Given the description of an element on the screen output the (x, y) to click on. 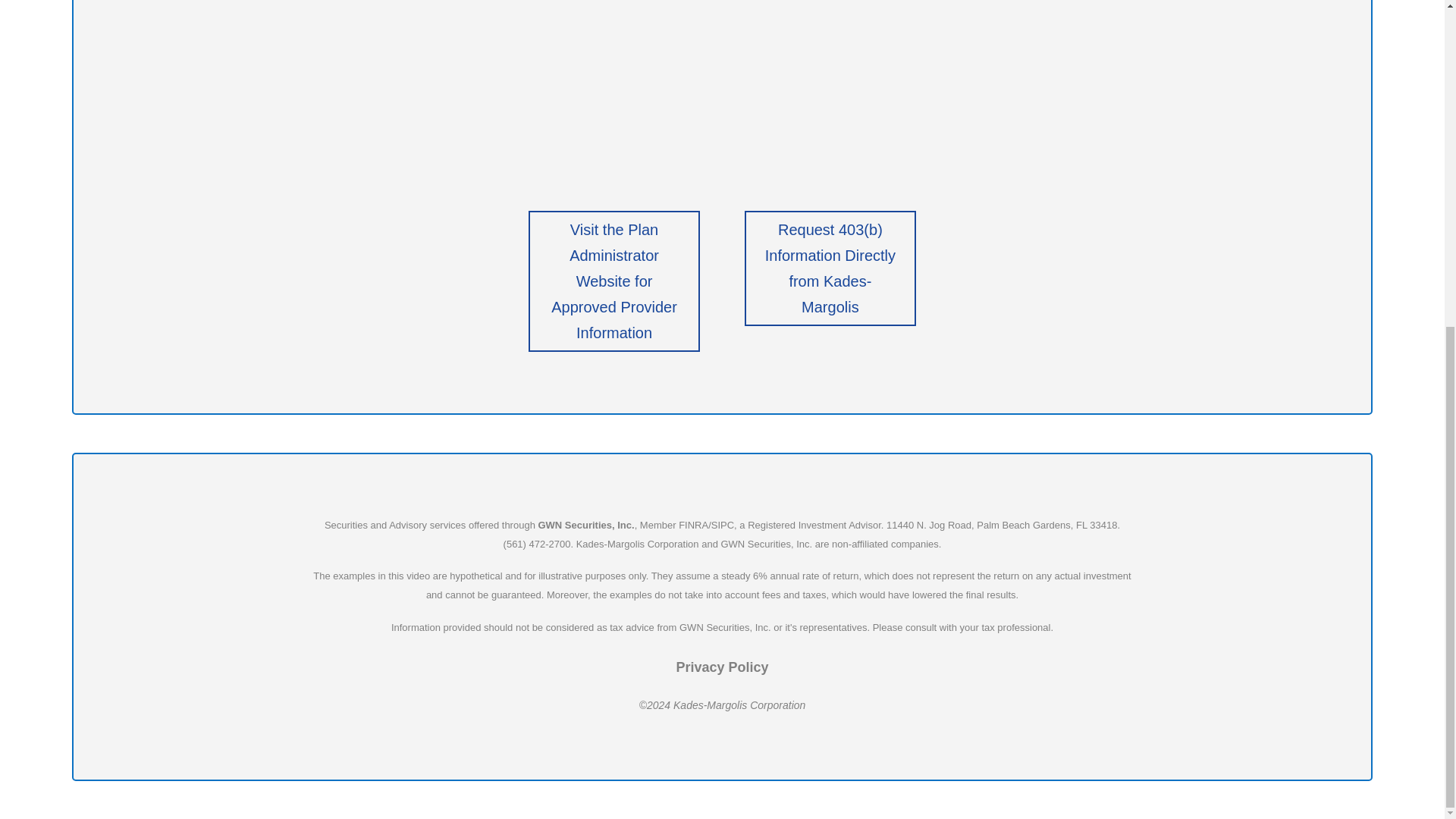
Privacy Policy (721, 667)
